Given the description of an element on the screen output the (x, y) to click on. 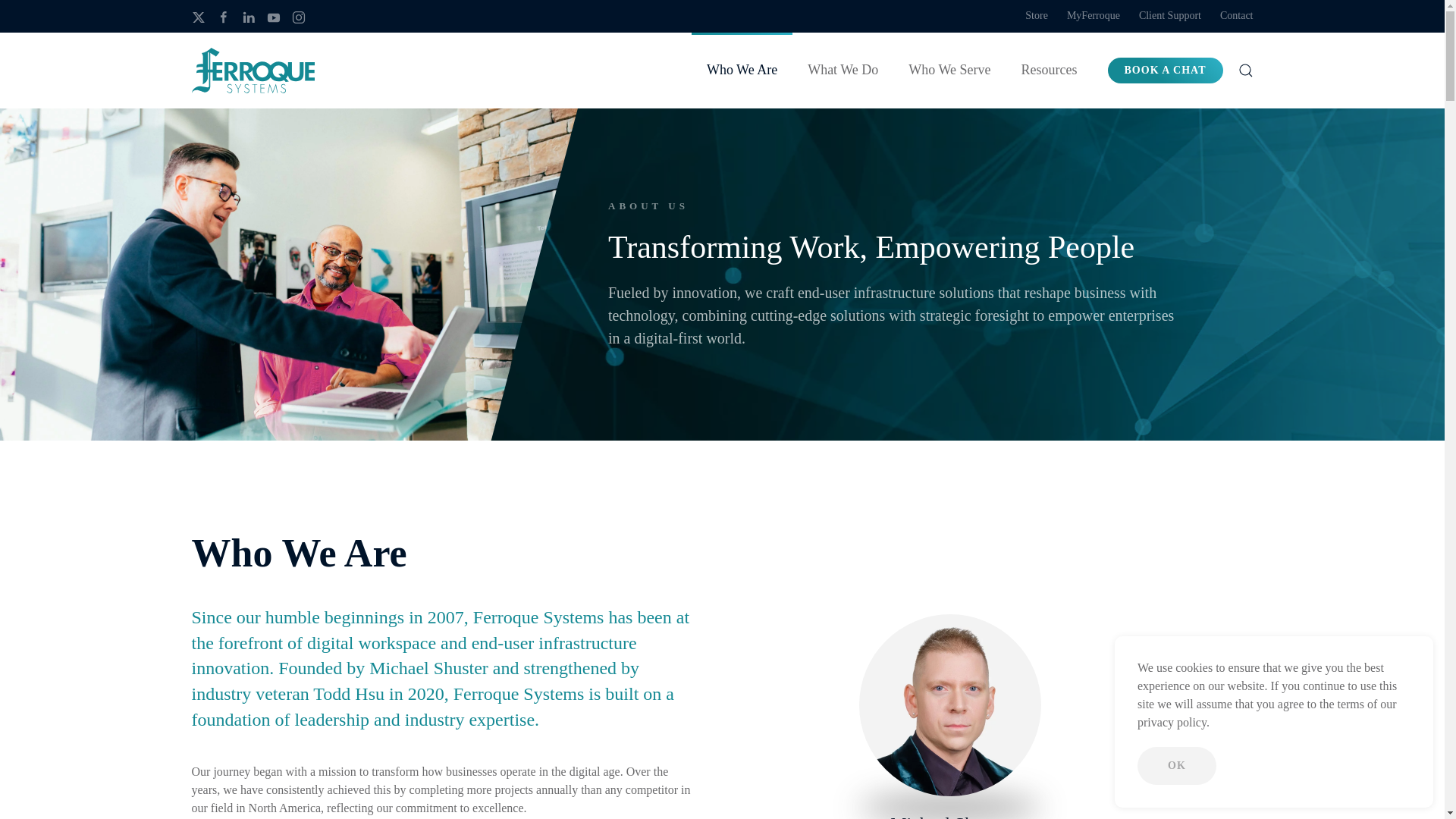
Who We Are (1002, 716)
Transforming Work, Empowering People (440, 552)
Who We Are (892, 247)
ABOUT US (741, 69)
